Given the description of an element on the screen output the (x, y) to click on. 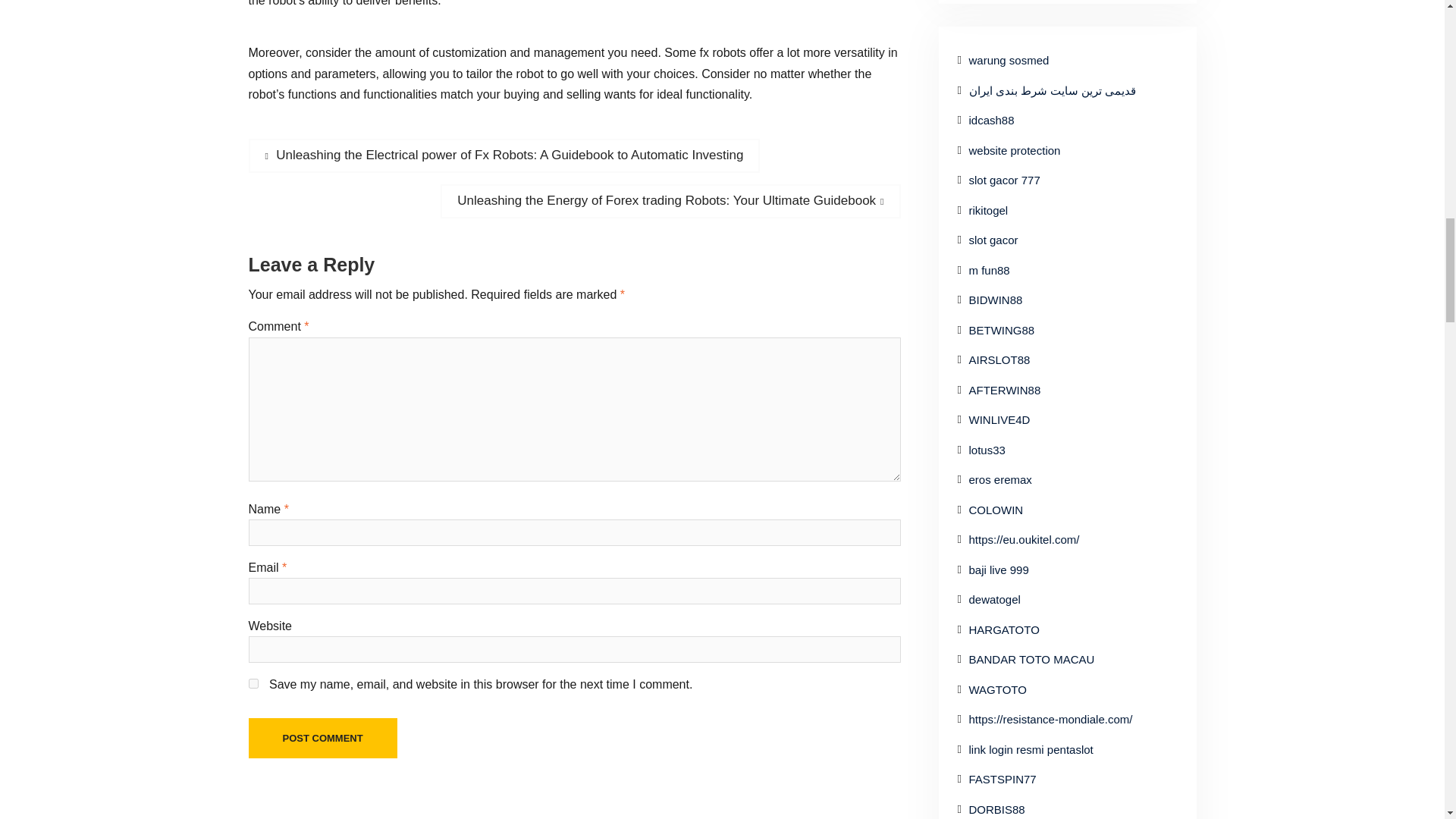
yes (253, 683)
Post Comment (322, 738)
Post Comment (322, 738)
